Given the description of an element on the screen output the (x, y) to click on. 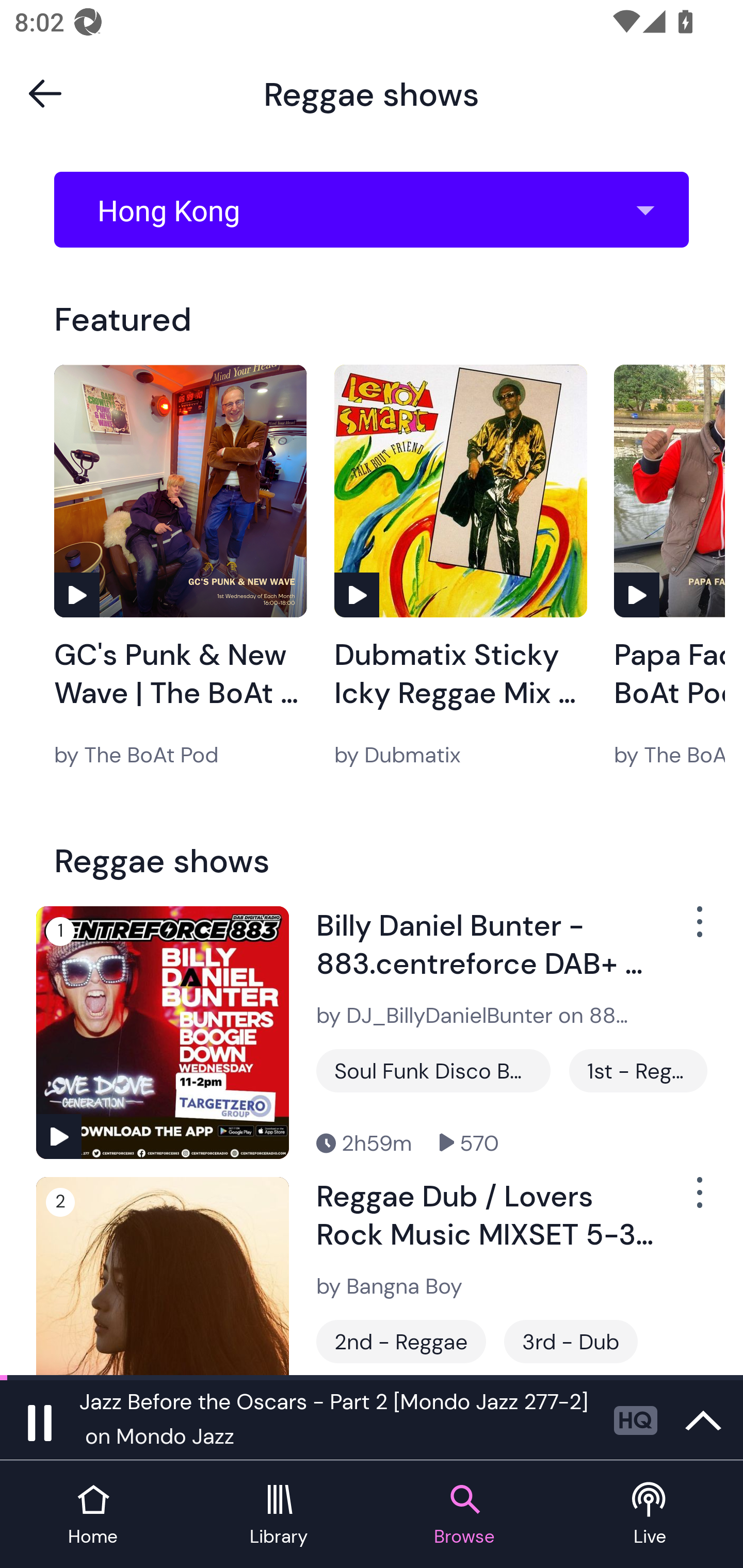
Hong Kong (378, 209)
Show Options Menu Button (697, 929)
Soul Funk Disco Boogie (433, 1070)
1st - Reggae (637, 1070)
Show Options Menu Button (697, 1200)
2nd - Reggae (400, 1341)
3rd - Dub (570, 1341)
Home tab Home (92, 1515)
Library tab Library (278, 1515)
Browse tab Browse (464, 1515)
Live tab Live (650, 1515)
